Given the description of an element on the screen output the (x, y) to click on. 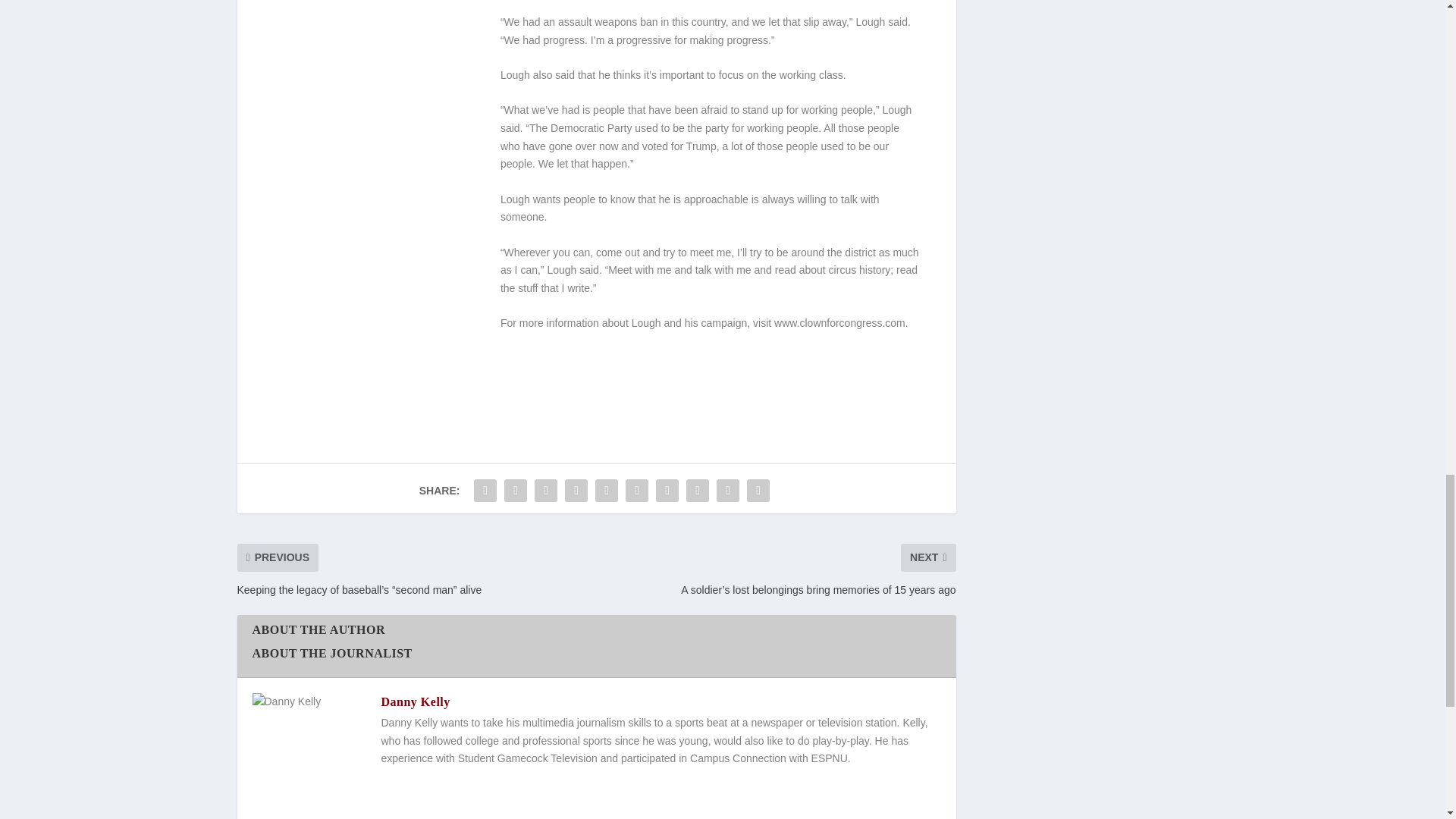
www.clownforcongress.com (839, 322)
